Given the description of an element on the screen output the (x, y) to click on. 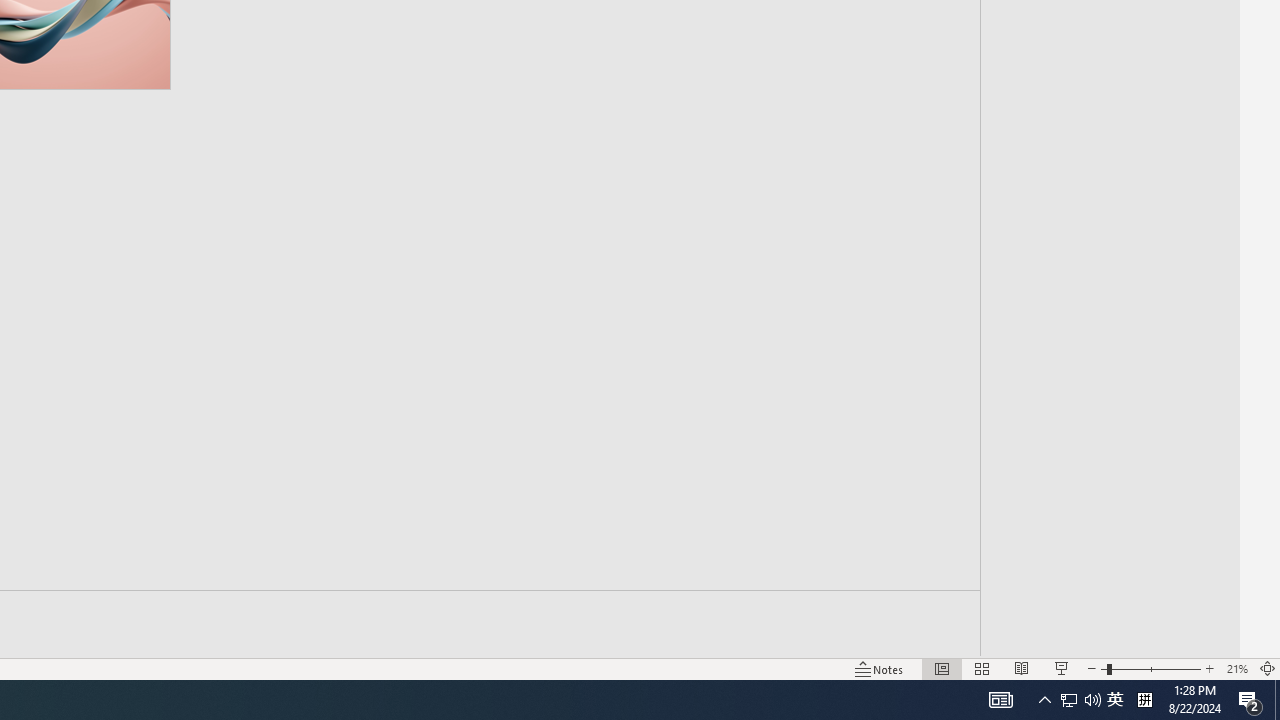
Zoom 21% (1236, 668)
